Given the description of an element on the screen output the (x, y) to click on. 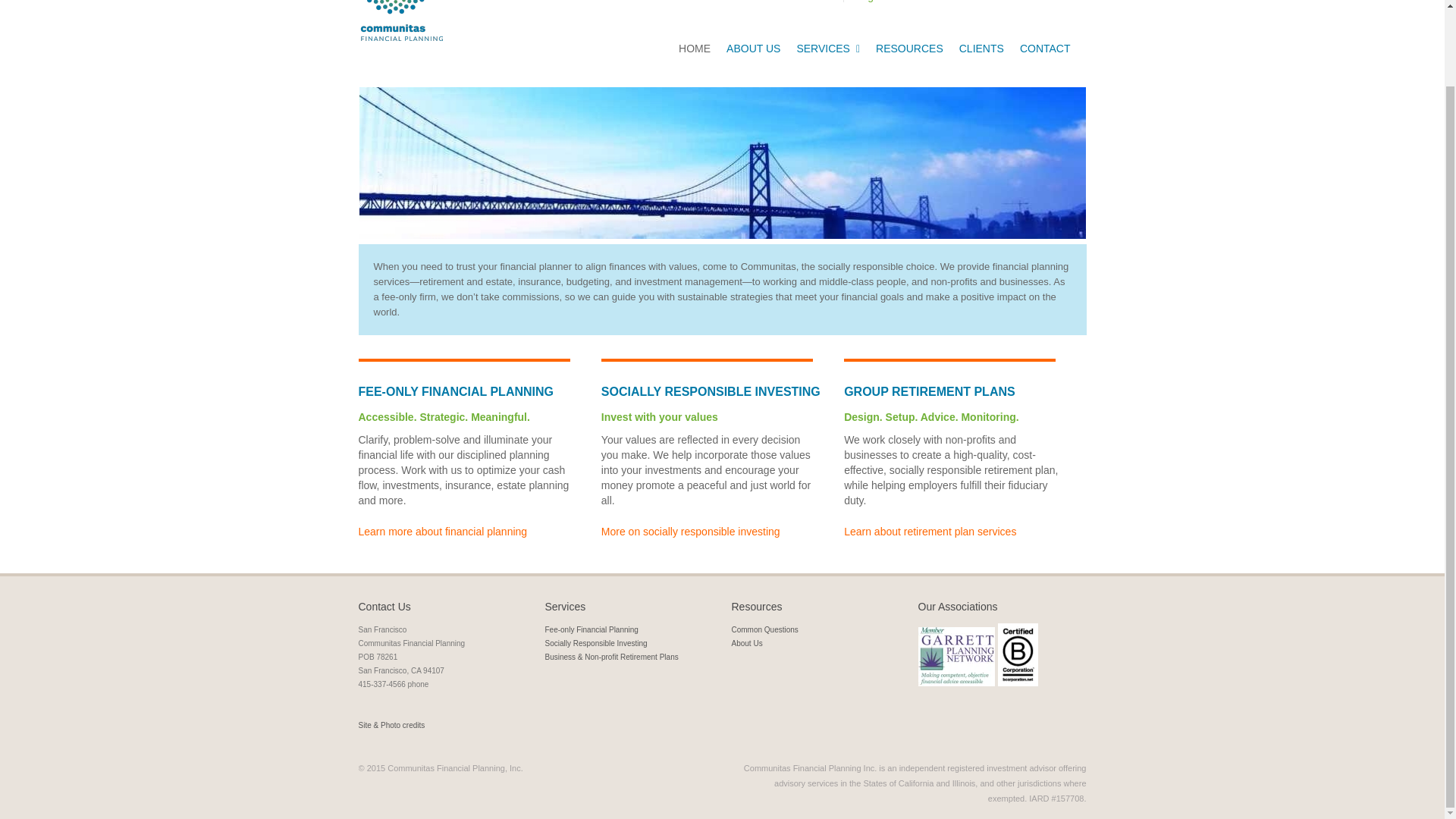
About Us (745, 643)
Financial Planning (442, 531)
Socially Responsible Investing (595, 643)
SERVICES (828, 47)
Communitas Financial Planning (400, 20)
Learn more about financial planning (442, 531)
Retirement Plans (930, 531)
CLIENTS (981, 47)
CONTACT (1044, 47)
Common Questions (763, 629)
Our People and Values (753, 47)
ABOUT US (753, 47)
Get in touch (1044, 47)
RESOURCES (908, 47)
SOCIALLY RESPONSIBLE INVESTING (690, 531)
